Given the description of an element on the screen output the (x, y) to click on. 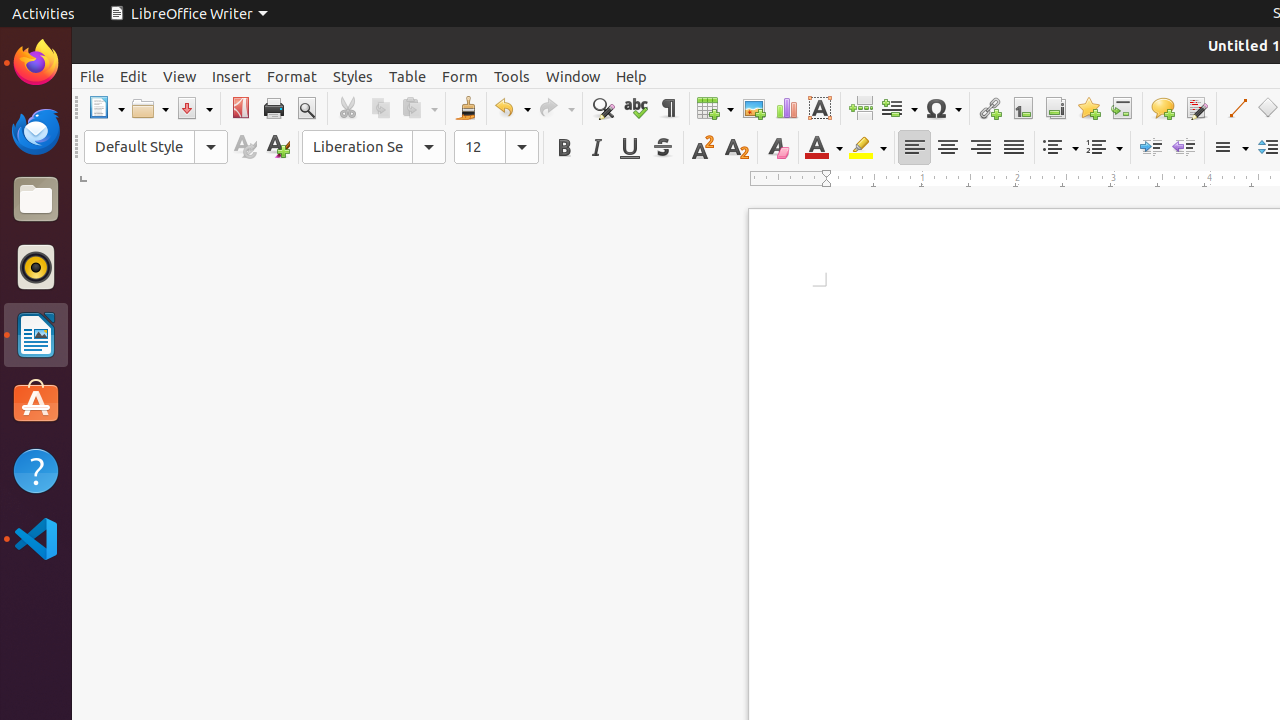
Underline Element type: push-button (629, 147)
View Element type: menu (179, 76)
Styles Element type: menu (353, 76)
Bullets Element type: push-button (1060, 147)
Formatting Marks Element type: toggle-button (668, 108)
